Given the description of an element on the screen output the (x, y) to click on. 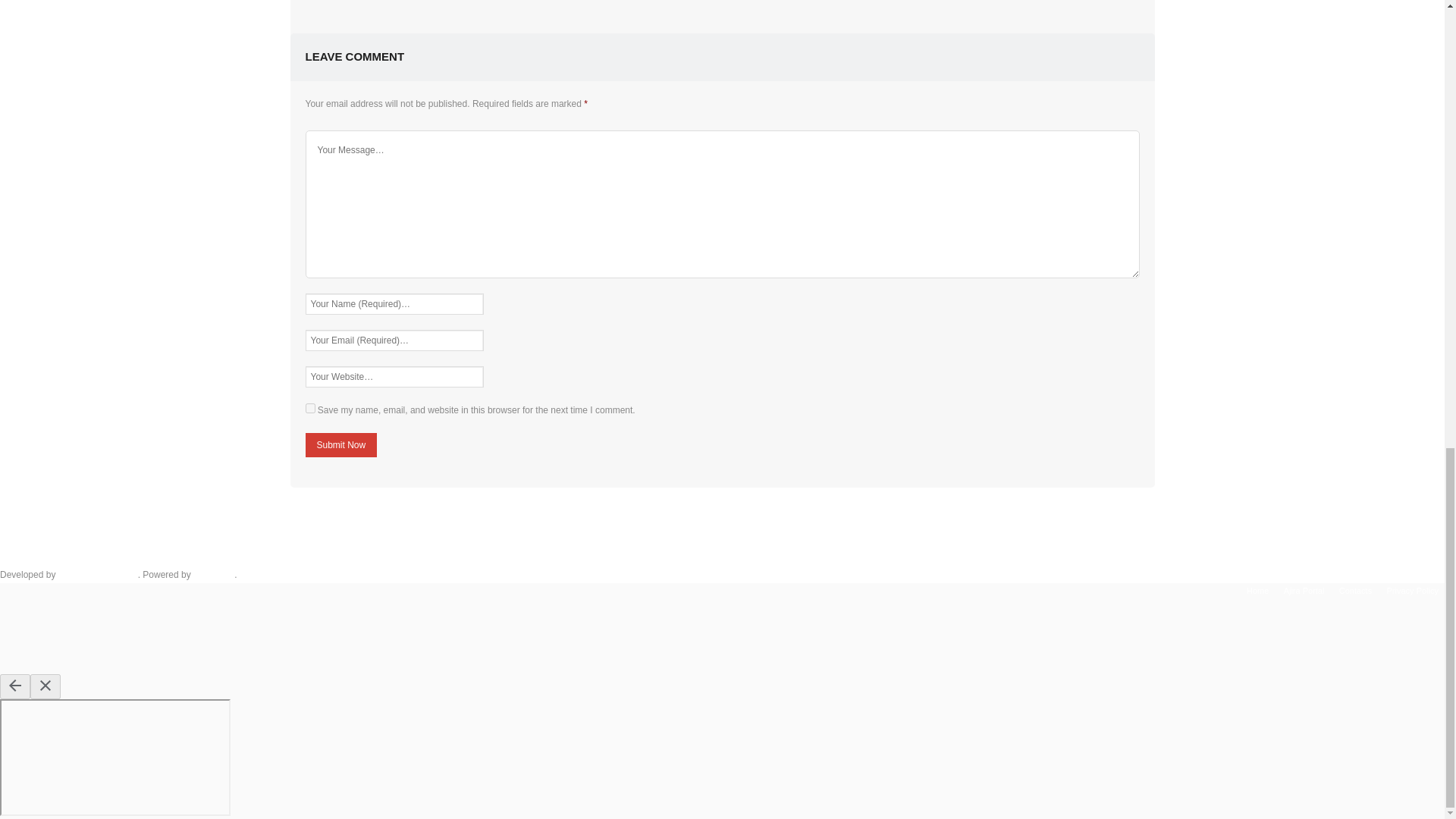
Think Up Themes Ltd (98, 574)
Submit Now (340, 445)
Advertisement (721, 536)
Submit Now (340, 445)
Advertisement (721, 12)
yes (309, 408)
Home (1257, 590)
Ajira Portal (1304, 590)
WordPress (213, 574)
Contacts (1355, 590)
Advertisement (721, 632)
